Given the description of an element on the screen output the (x, y) to click on. 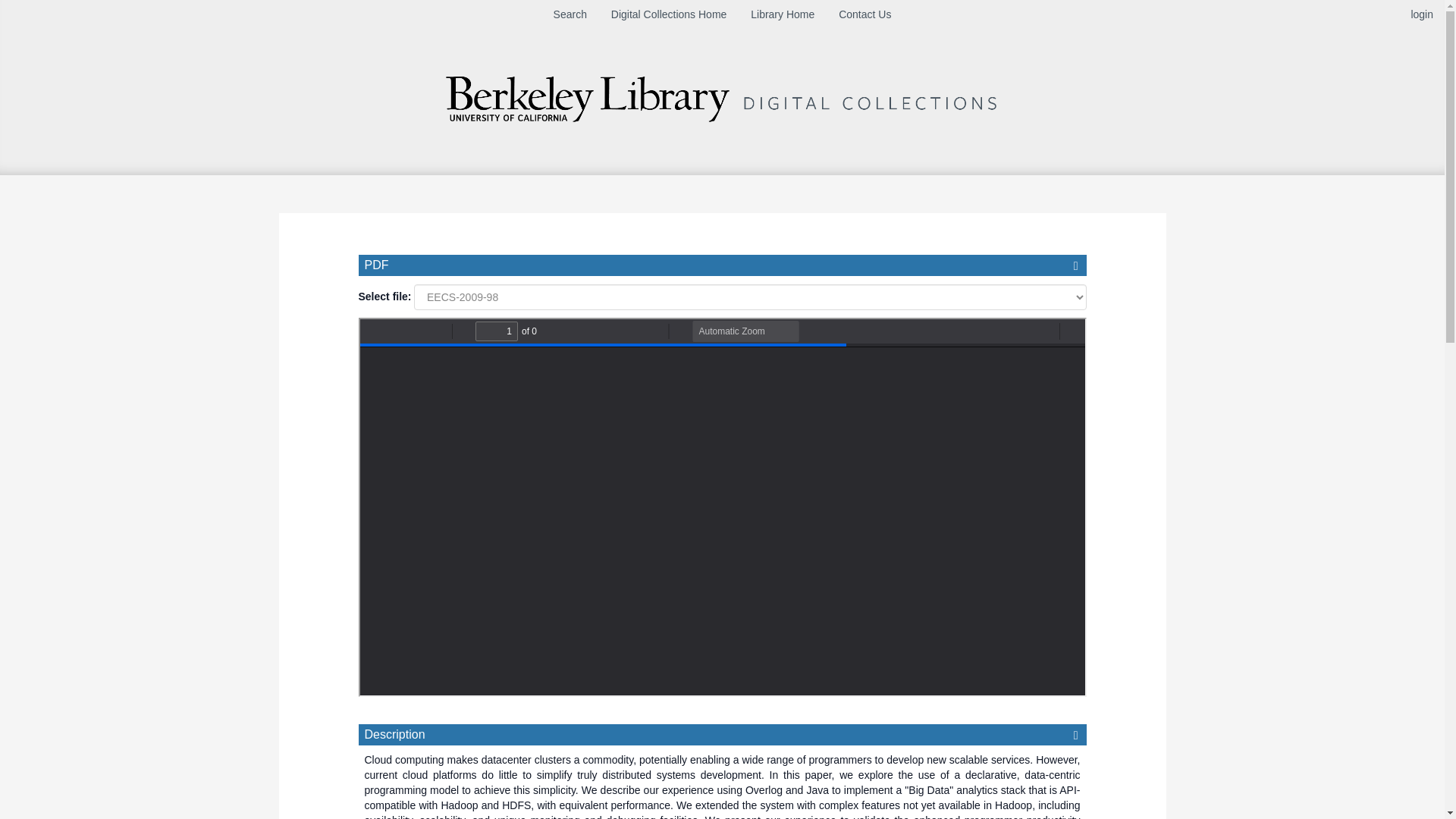
Library Home (782, 14)
Digital Collections Home (668, 14)
Search (569, 14)
login (1421, 14)
EECS-2009-98 (749, 296)
Contact Us (864, 14)
